Given the description of an element on the screen output the (x, y) to click on. 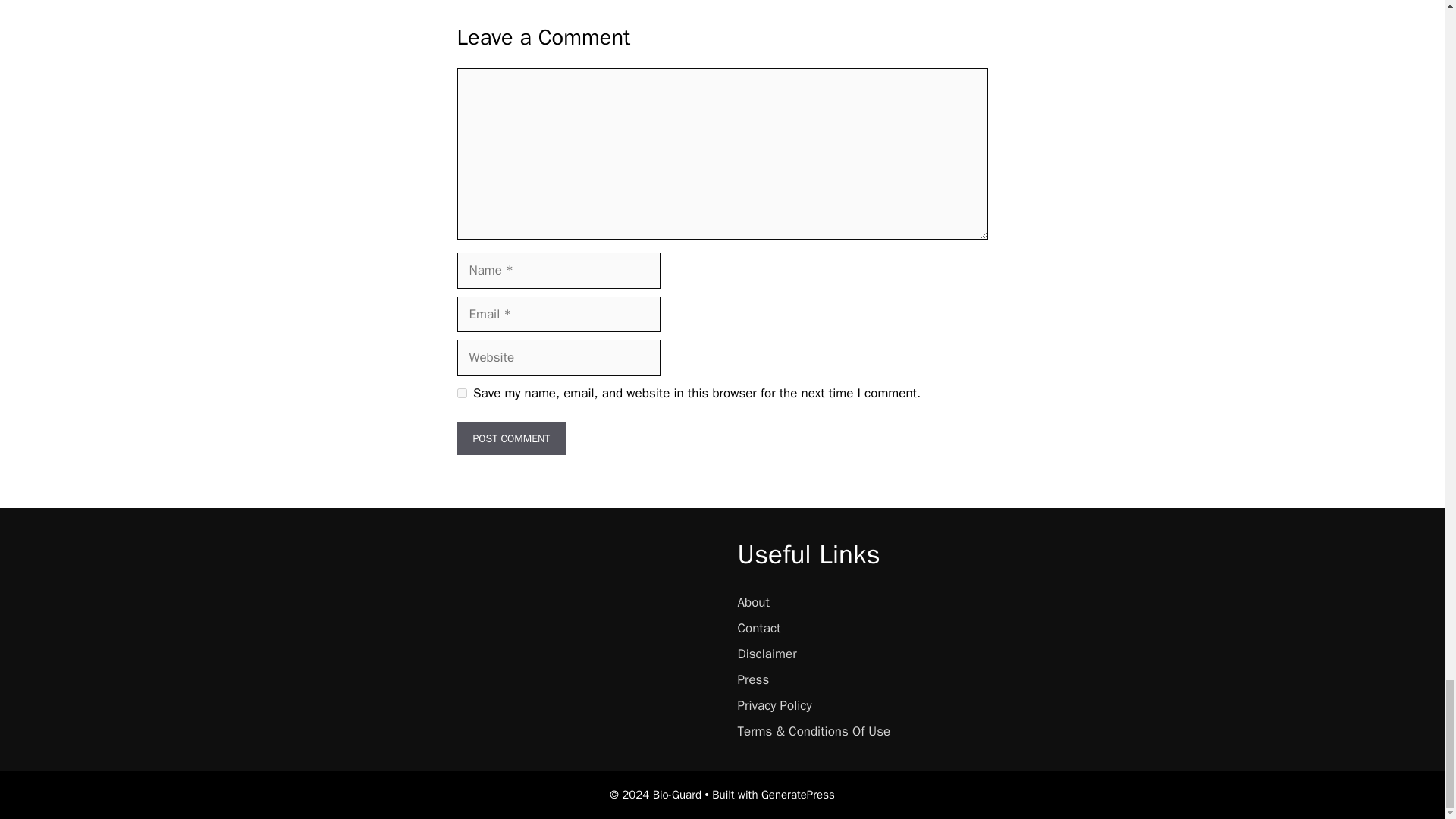
Post Comment (511, 438)
Disclaimer (766, 653)
yes (461, 393)
Privacy Policy (773, 705)
About (752, 602)
Post Comment (511, 438)
GeneratePress (797, 794)
Contact (758, 627)
Press (752, 679)
